Given the description of an element on the screen output the (x, y) to click on. 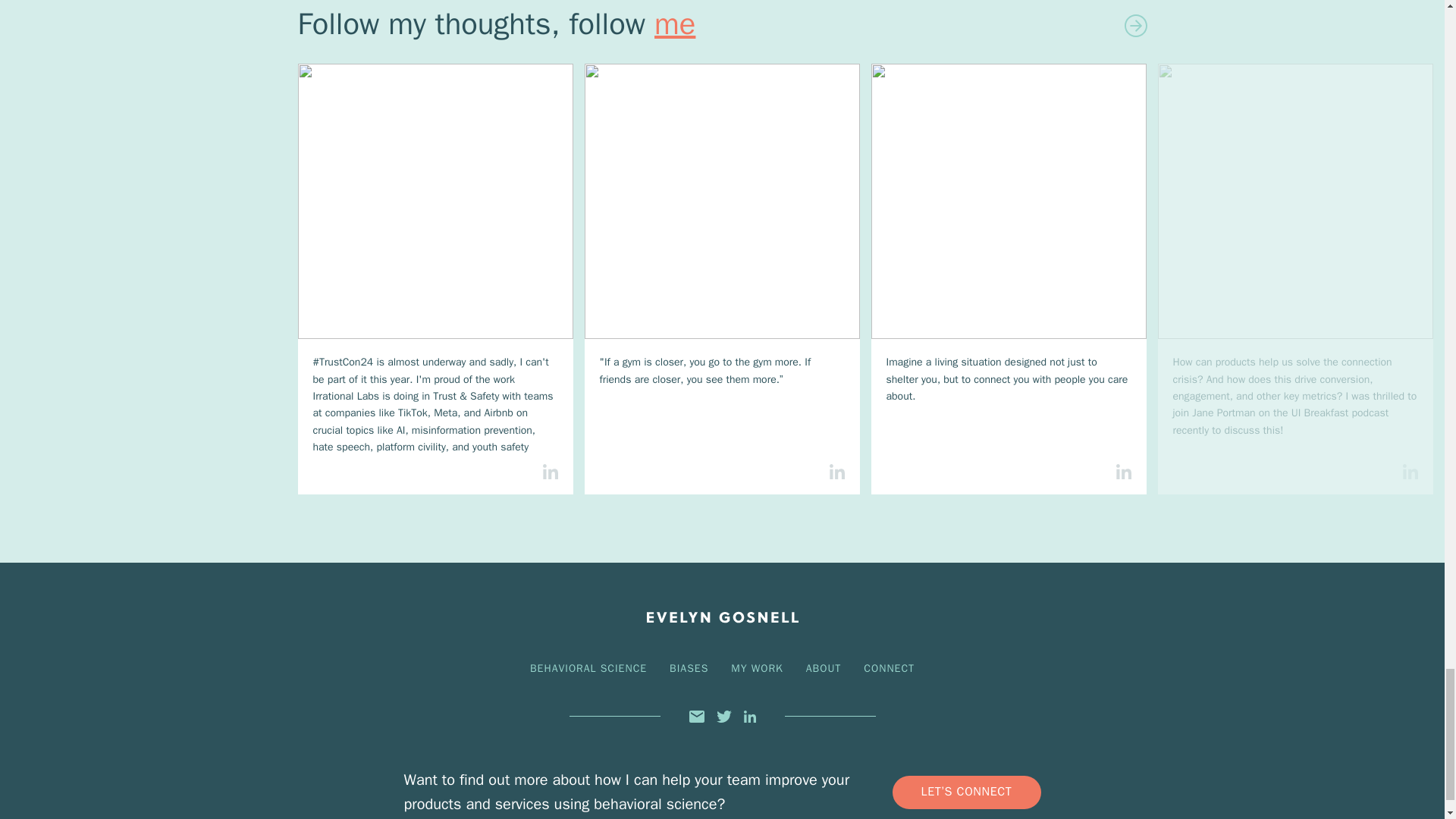
BEHAVIORAL SCIENCE (587, 667)
Twitter (723, 716)
Linkedin (748, 716)
me (674, 23)
Email (695, 716)
Follow Evelyn on LinkedIn (674, 23)
